Given the description of an element on the screen output the (x, y) to click on. 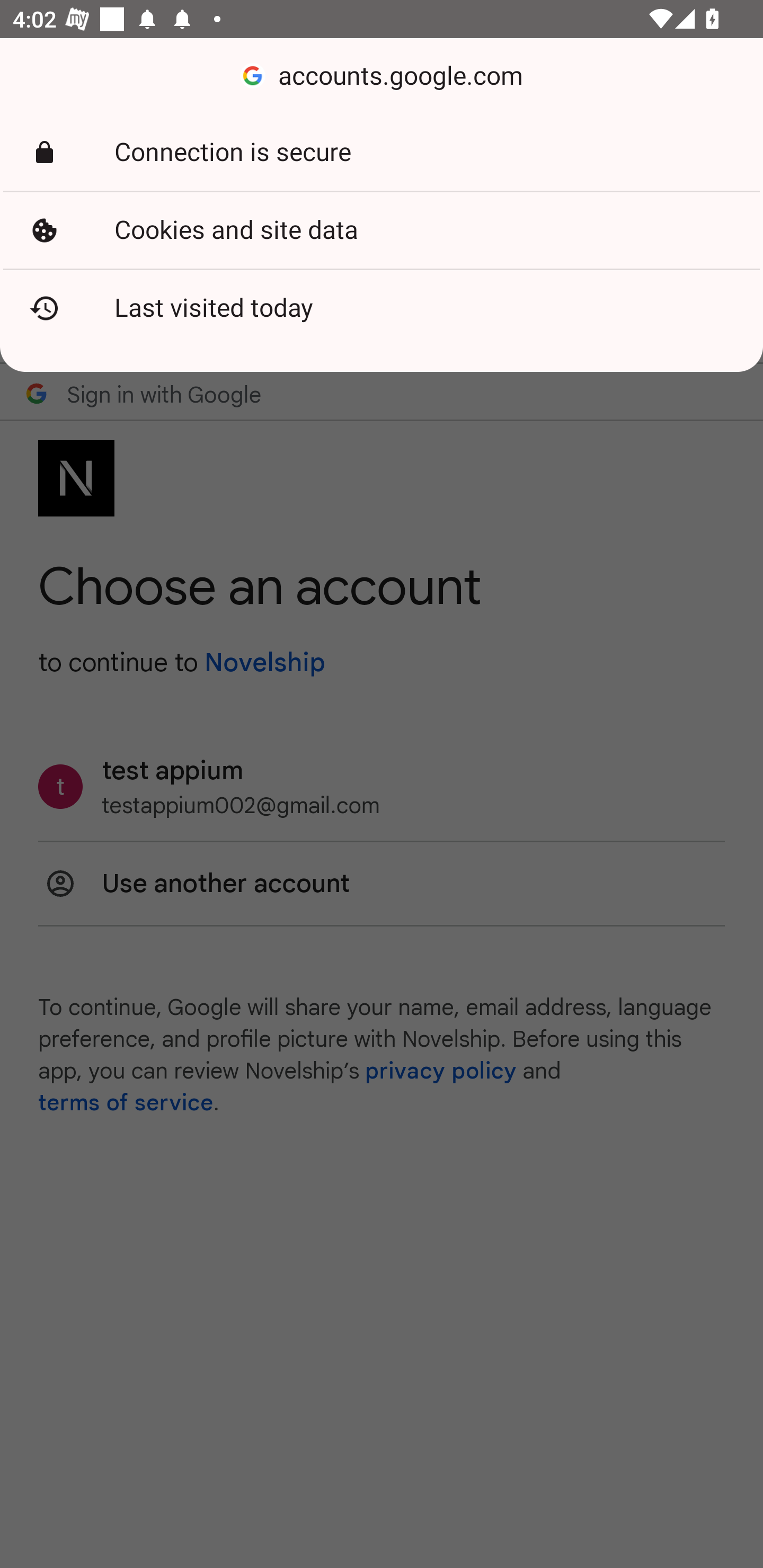
accounts.google.com (381, 75)
Connection is secure (381, 152)
Cookies and site data (381, 230)
Last visited today (381, 307)
